Given the description of an element on the screen output the (x, y) to click on. 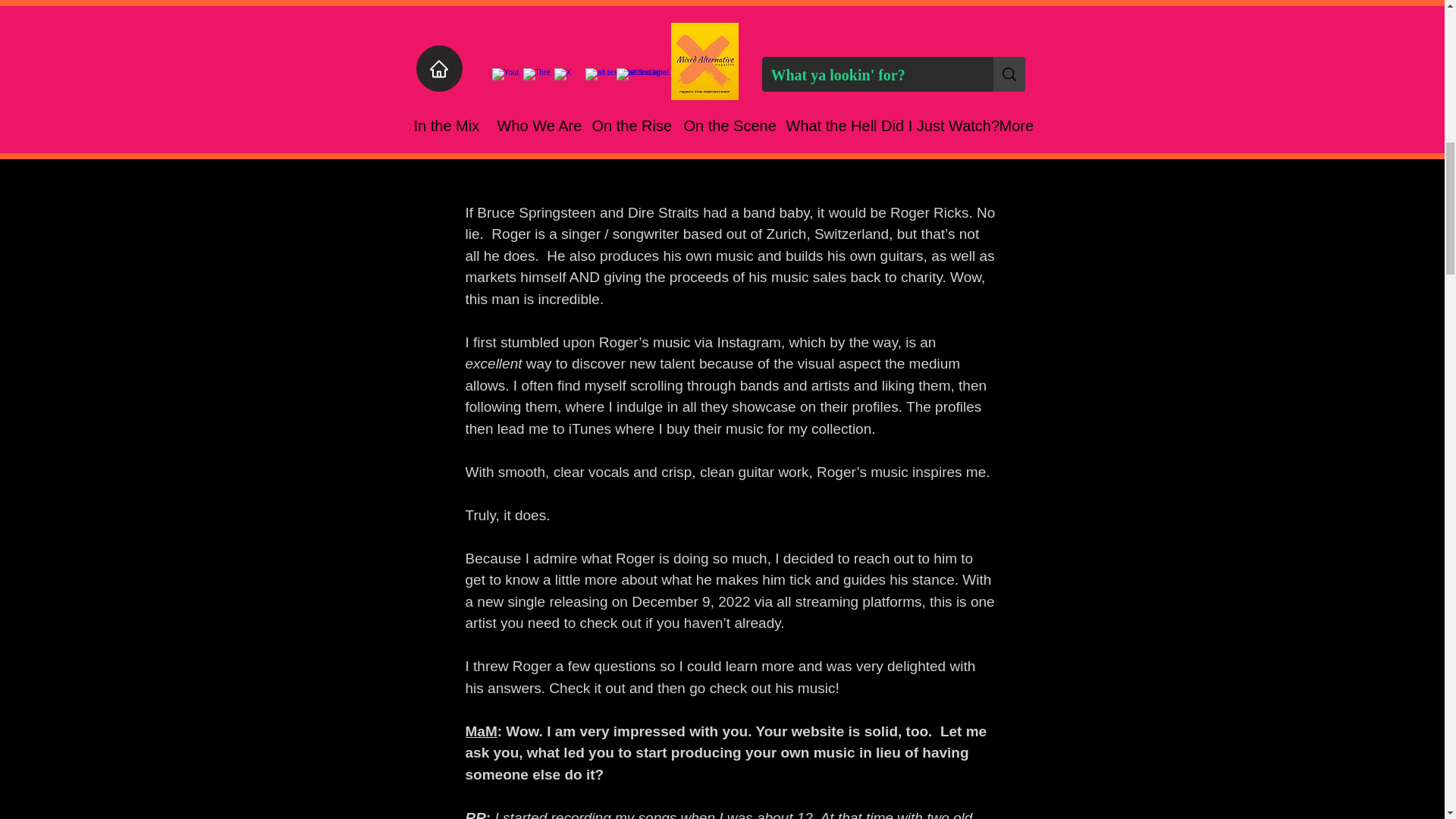
Twitter Tweet (981, 36)
Share (984, 9)
Share (984, 9)
